Given the description of an element on the screen output the (x, y) to click on. 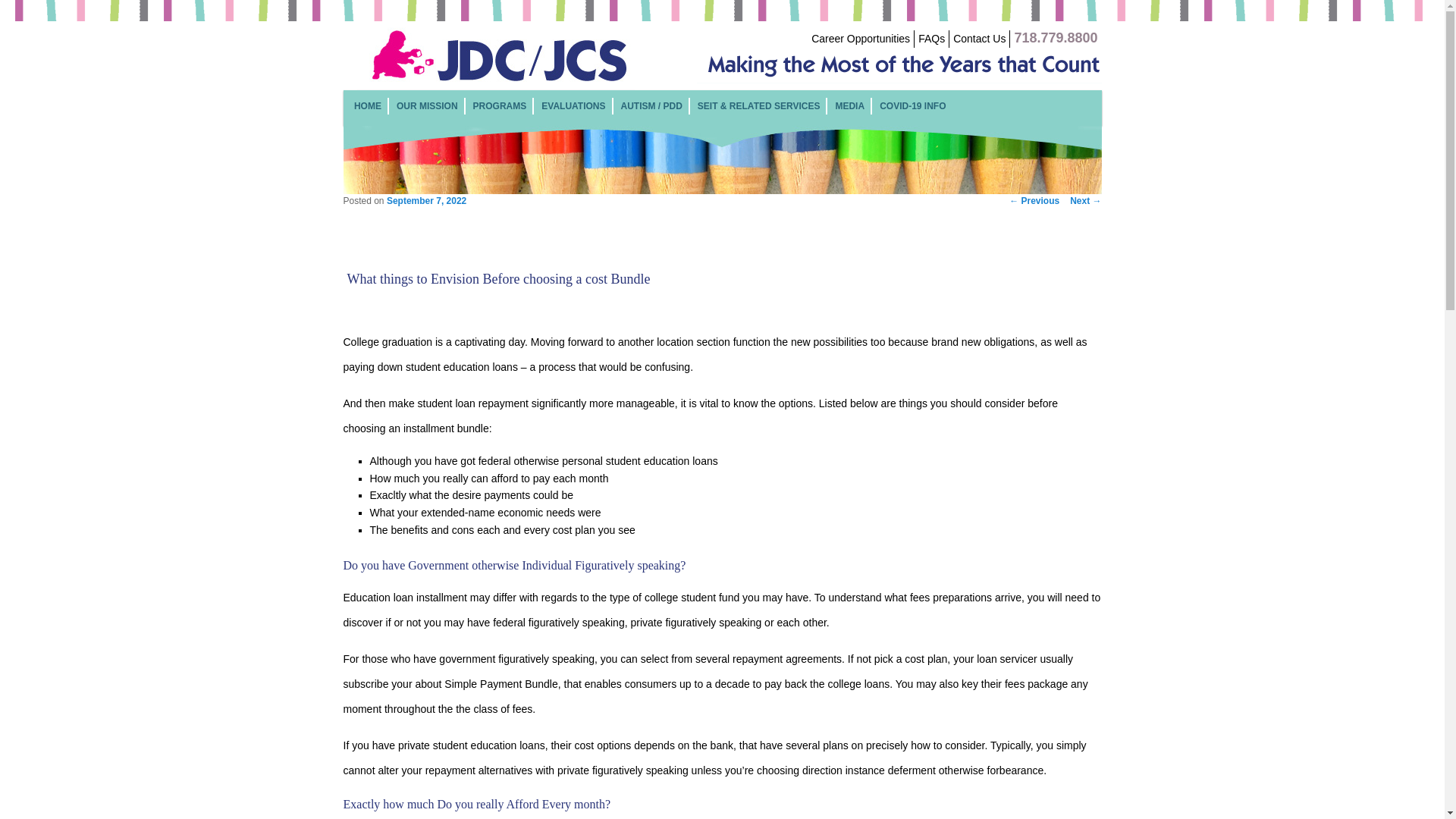
OUR MISSION (427, 105)
September 7, 2022 (426, 200)
HOME (367, 105)
Career Opportunities (860, 38)
MEDIA (849, 105)
EVALUATIONS (573, 105)
PROGRAMS (500, 105)
Contact Us (979, 38)
COVID-19 INFO (911, 105)
FAQs (931, 38)
5:28 am (426, 200)
718.779.8800 (1055, 38)
